Given the description of an element on the screen output the (x, y) to click on. 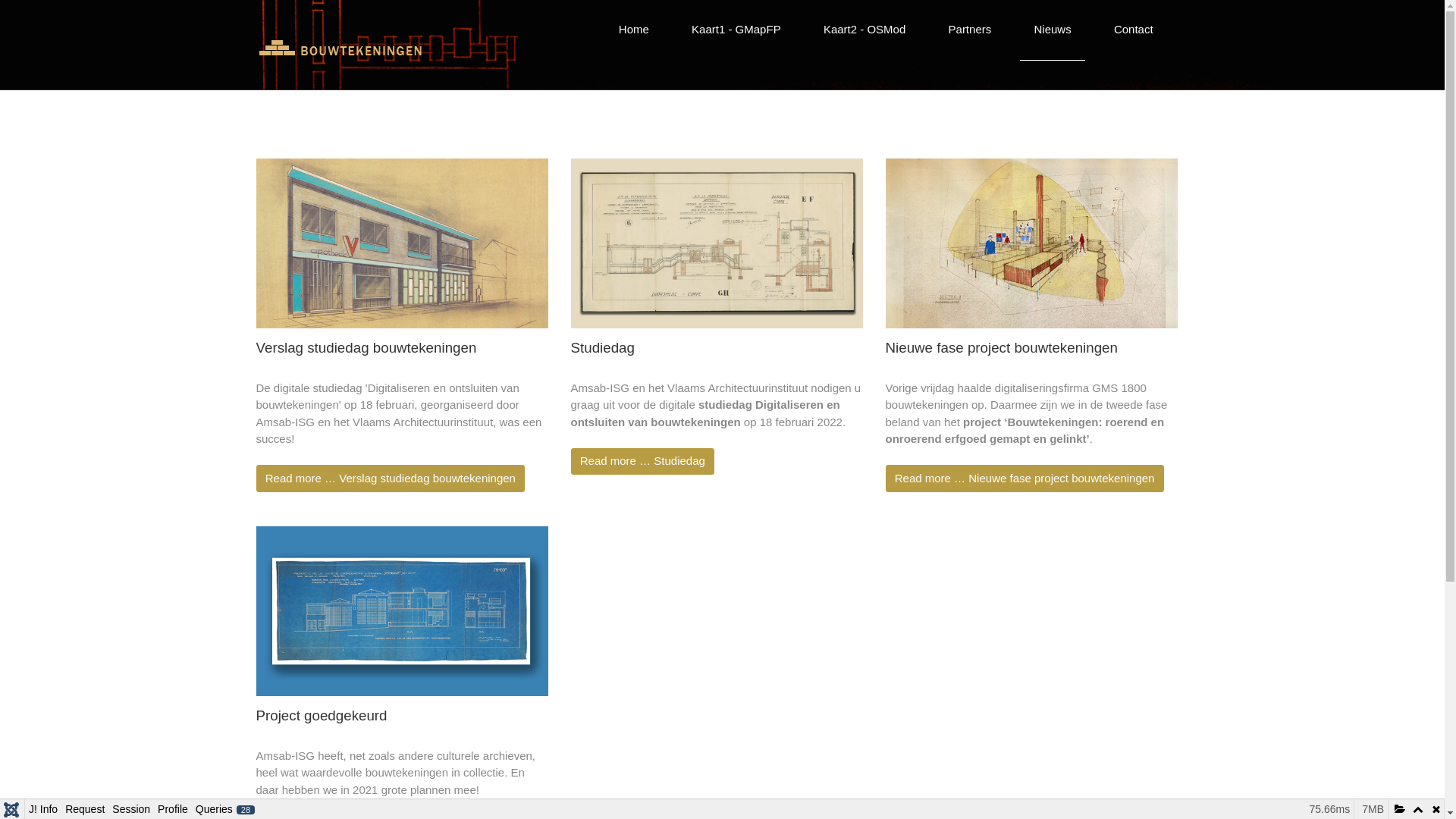
Verslag studiedag bouwtekeningen Element type: text (366, 347)
Contact Element type: text (1133, 30)
Nieuws Element type: text (1052, 30)
Partners Element type: text (969, 30)
Nieuwe fase project bouwtekeningen Element type: text (1001, 347)
Kaart2 - OSMod Element type: text (864, 30)
Kaart1 - GMapFP Element type: text (735, 30)
Home Element type: text (633, 30)
Studiedag Element type: text (601, 347)
Project goedgekeurd Element type: text (321, 715)
